Given the description of an element on the screen output the (x, y) to click on. 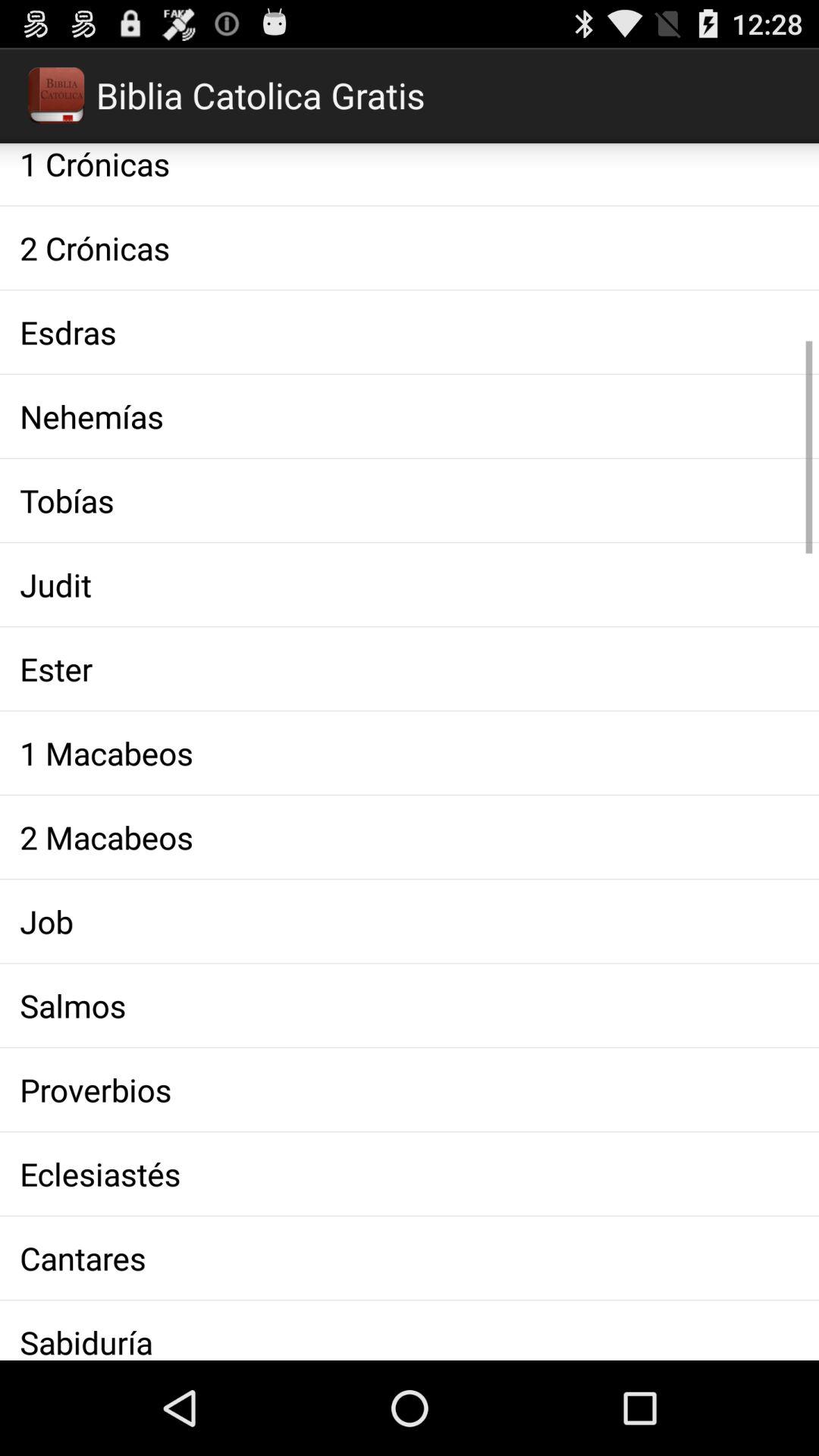
choose the icon above ester icon (409, 584)
